Given the description of an element on the screen output the (x, y) to click on. 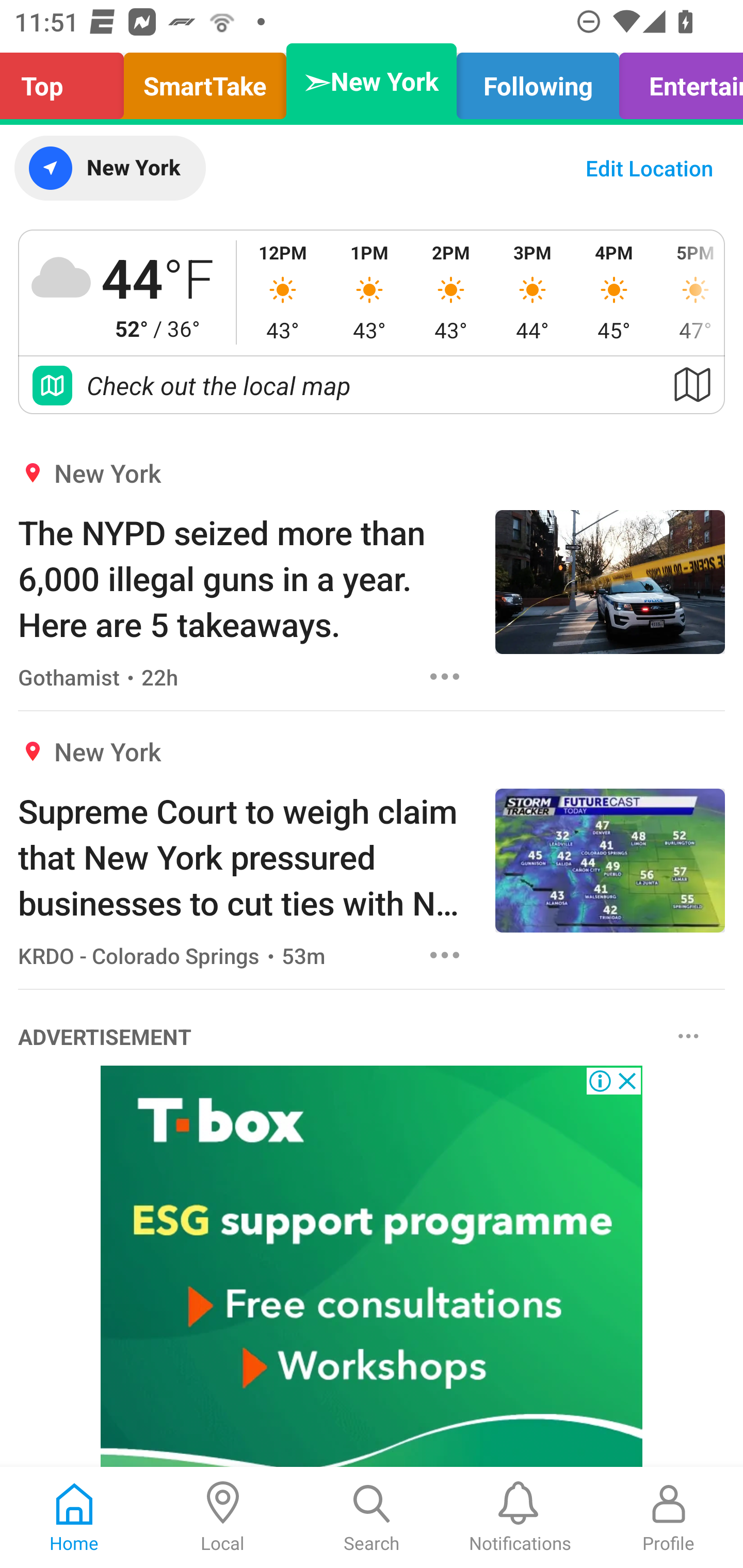
Top (67, 81)
SmartTake (204, 81)
➣New York (371, 81)
Following (537, 81)
New York (109, 168)
Edit Location (648, 168)
12PM 43° (282, 291)
1PM 43° (369, 291)
2PM 43° (450, 291)
3PM 44° (532, 291)
4PM 45° (613, 291)
5PM 47° (689, 291)
Check out the local map (371, 384)
Options (444, 676)
Options (444, 954)
Options (688, 1035)
sustainability%3FDCSext (371, 1266)
Local (222, 1517)
Search (371, 1517)
Notifications (519, 1517)
Profile (668, 1517)
